Given the description of an element on the screen output the (x, y) to click on. 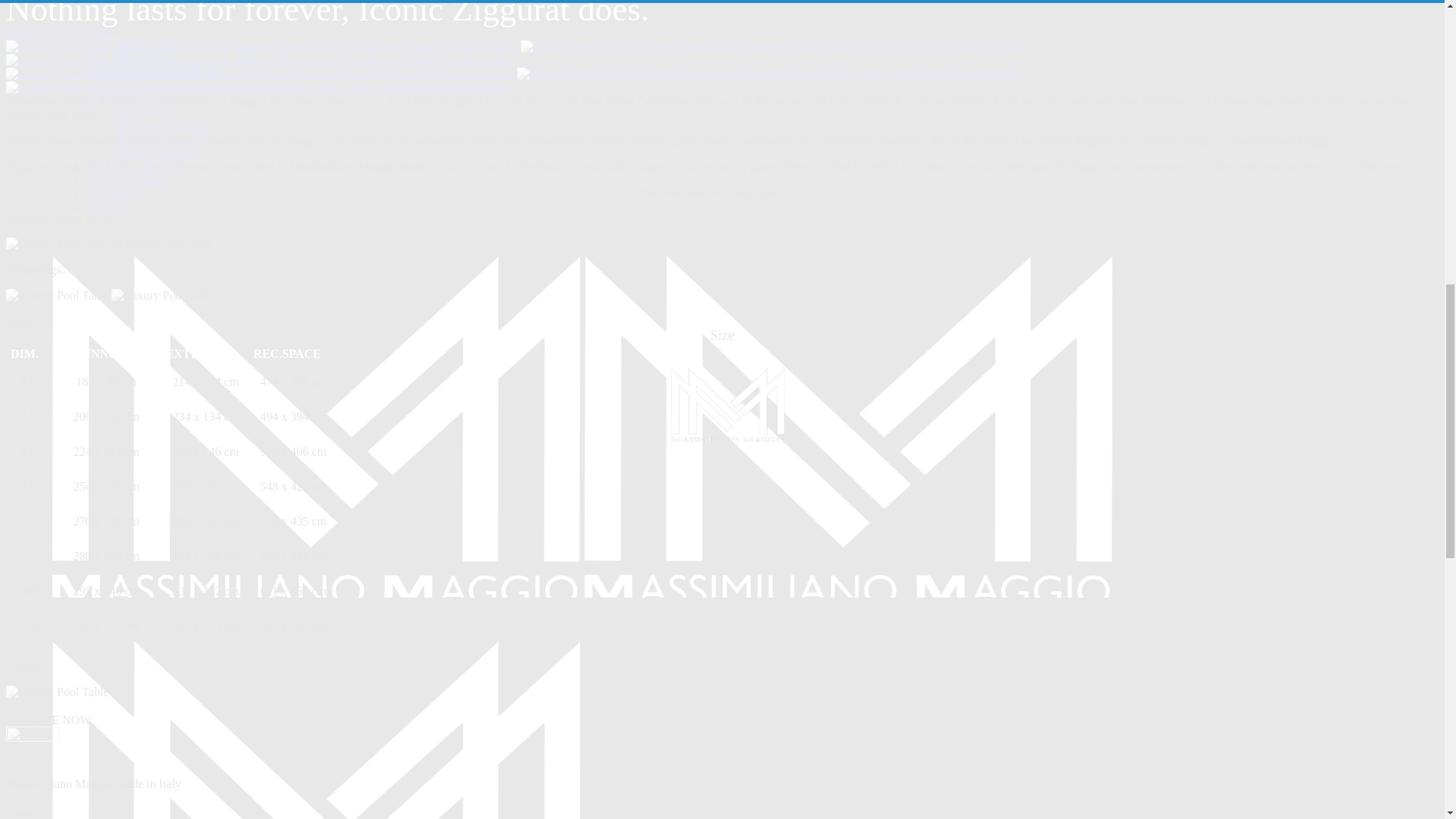
Massimiliano Maggio - Luxury Pool Table (259, 74)
HOME (107, 4)
CONTACT (117, 194)
GAME TABLES (142, 98)
ABOUT (121, 30)
CHESS TABLES (159, 153)
Massimiliano Maggio - Luxury Pool Table (56, 692)
NEWS (106, 207)
Massimiliano Maggio - Luxury Pool Table (108, 243)
Massimiliano Maggio - Luxury Pool Table (256, 88)
Massimiliano Maggio - Luxury Pool Table (768, 74)
FACTORY (143, 57)
Massimiliano Maggio - Luxury Pool Table (256, 60)
Massimiliano Maggio - Luxury Pool Table (261, 47)
FOOSBALL (147, 112)
